Given the description of an element on the screen output the (x, y) to click on. 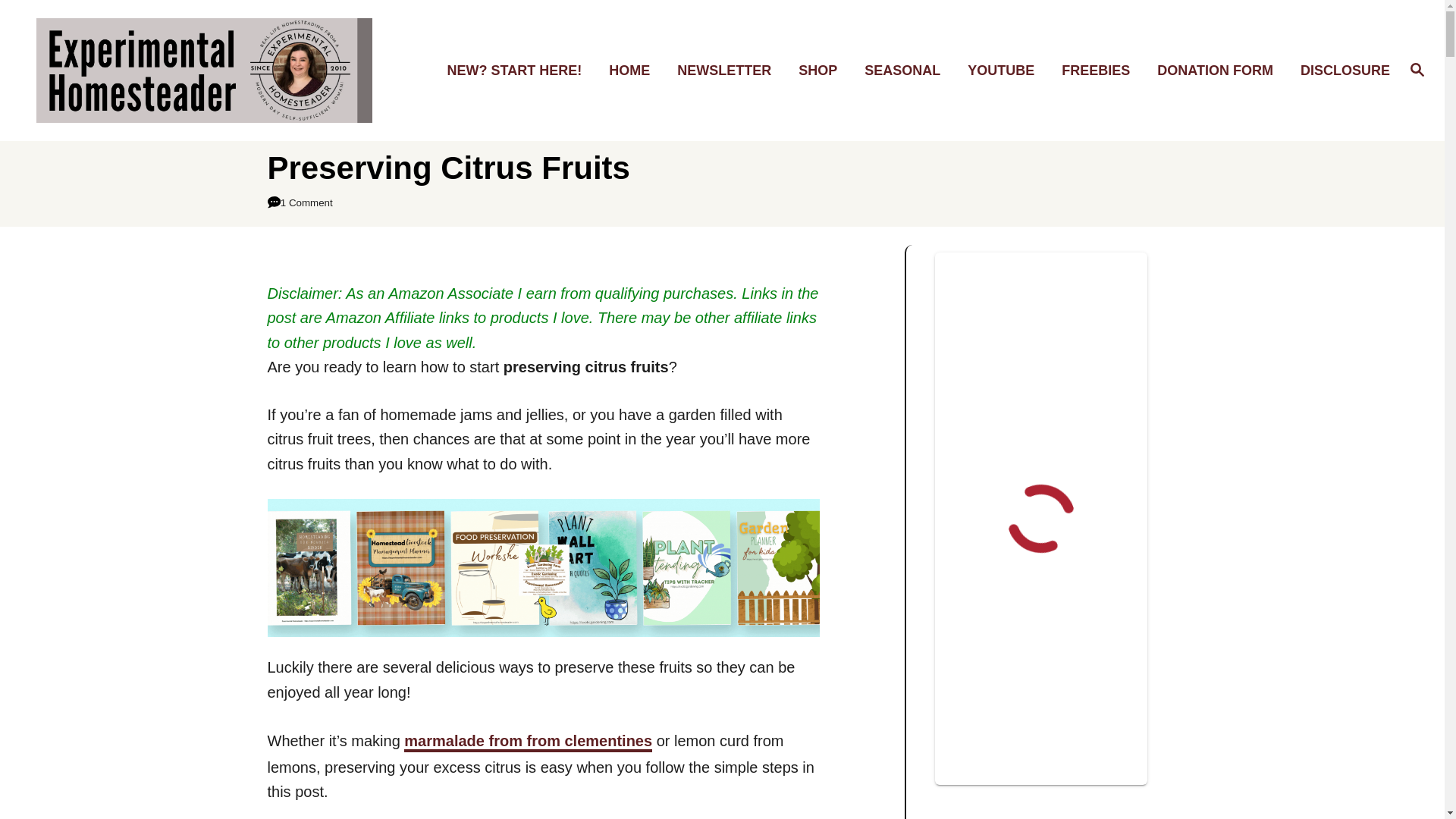
Experimental Homesteader (204, 70)
Magnifying Glass (1416, 69)
HOME (633, 70)
NEW? START HERE! (518, 70)
